Given the description of an element on the screen output the (x, y) to click on. 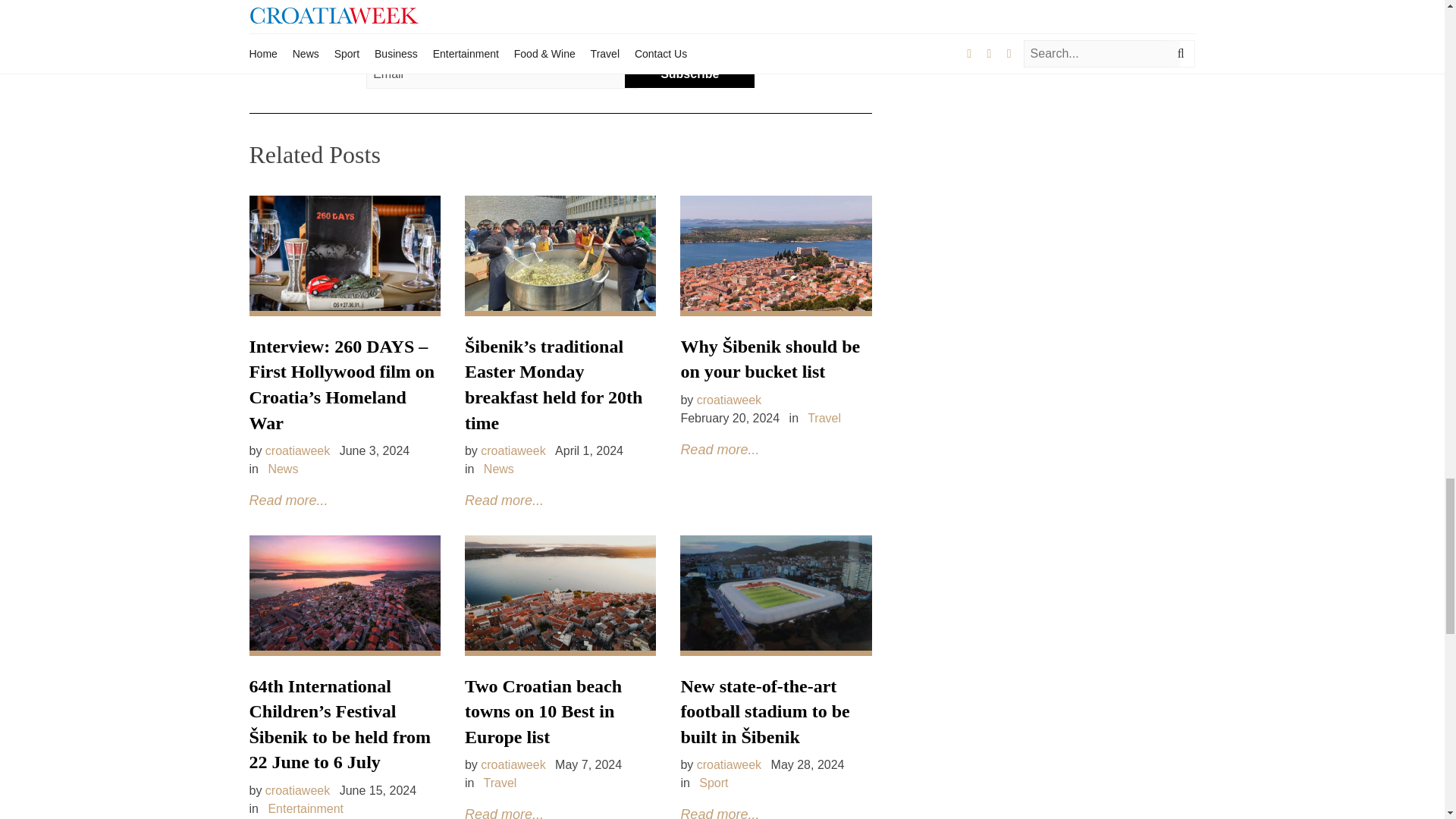
Email (502, 73)
Read more... (503, 500)
Subscribe (689, 73)
croatiaweek (297, 450)
News (282, 468)
Read more... (287, 500)
News (498, 468)
croatiaweek (512, 450)
Subscribe (689, 73)
